Given the description of an element on the screen output the (x, y) to click on. 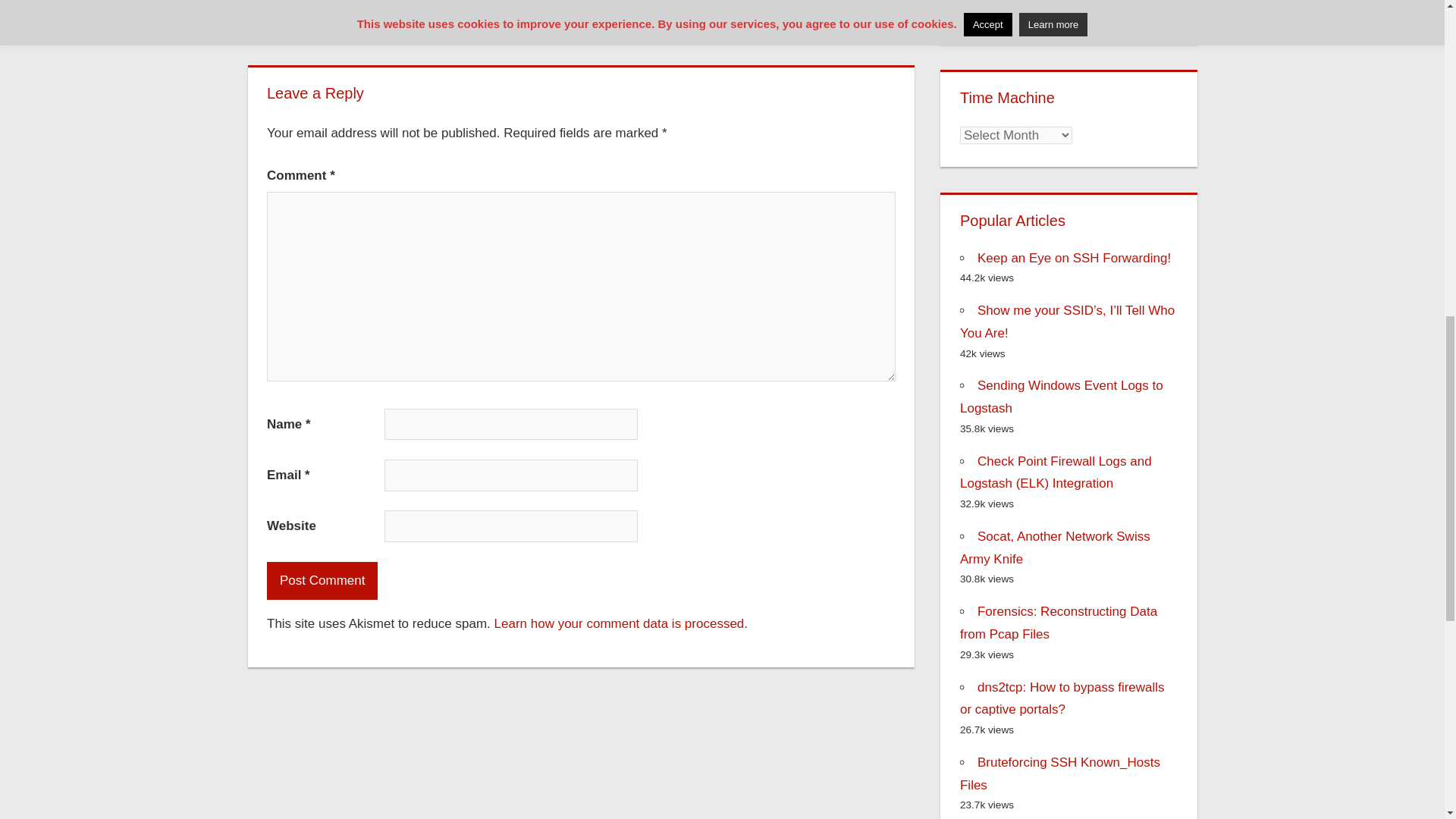
Post Comment (321, 580)
Post Comment (321, 580)
Learn how your comment data is processed (619, 623)
